Given the description of an element on the screen output the (x, y) to click on. 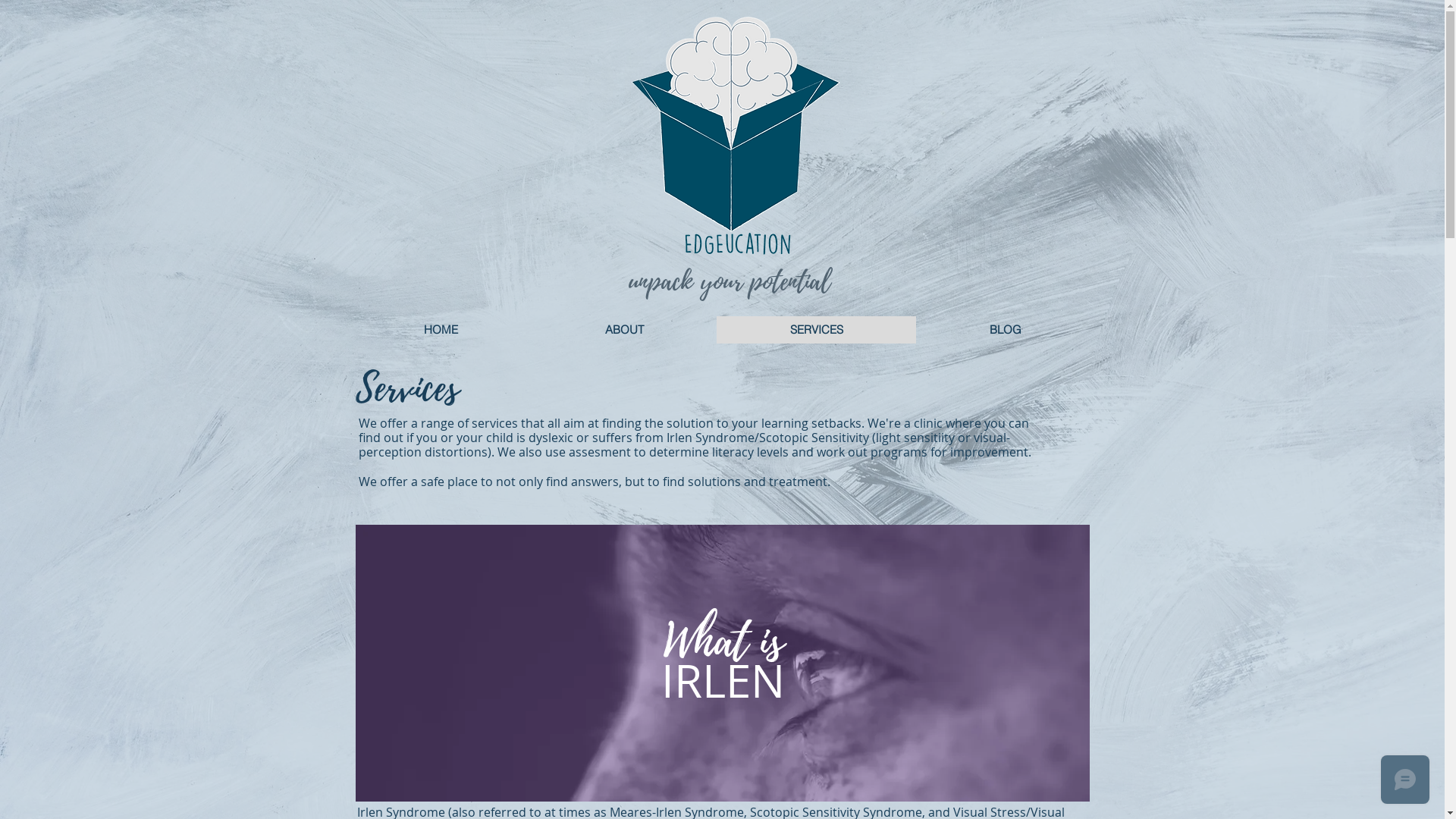
BLOG Element type: text (1005, 329)
SERVICES Element type: text (815, 329)
ABOUT Element type: text (622, 329)
HOME Element type: text (440, 329)
